Given the description of an element on the screen output the (x, y) to click on. 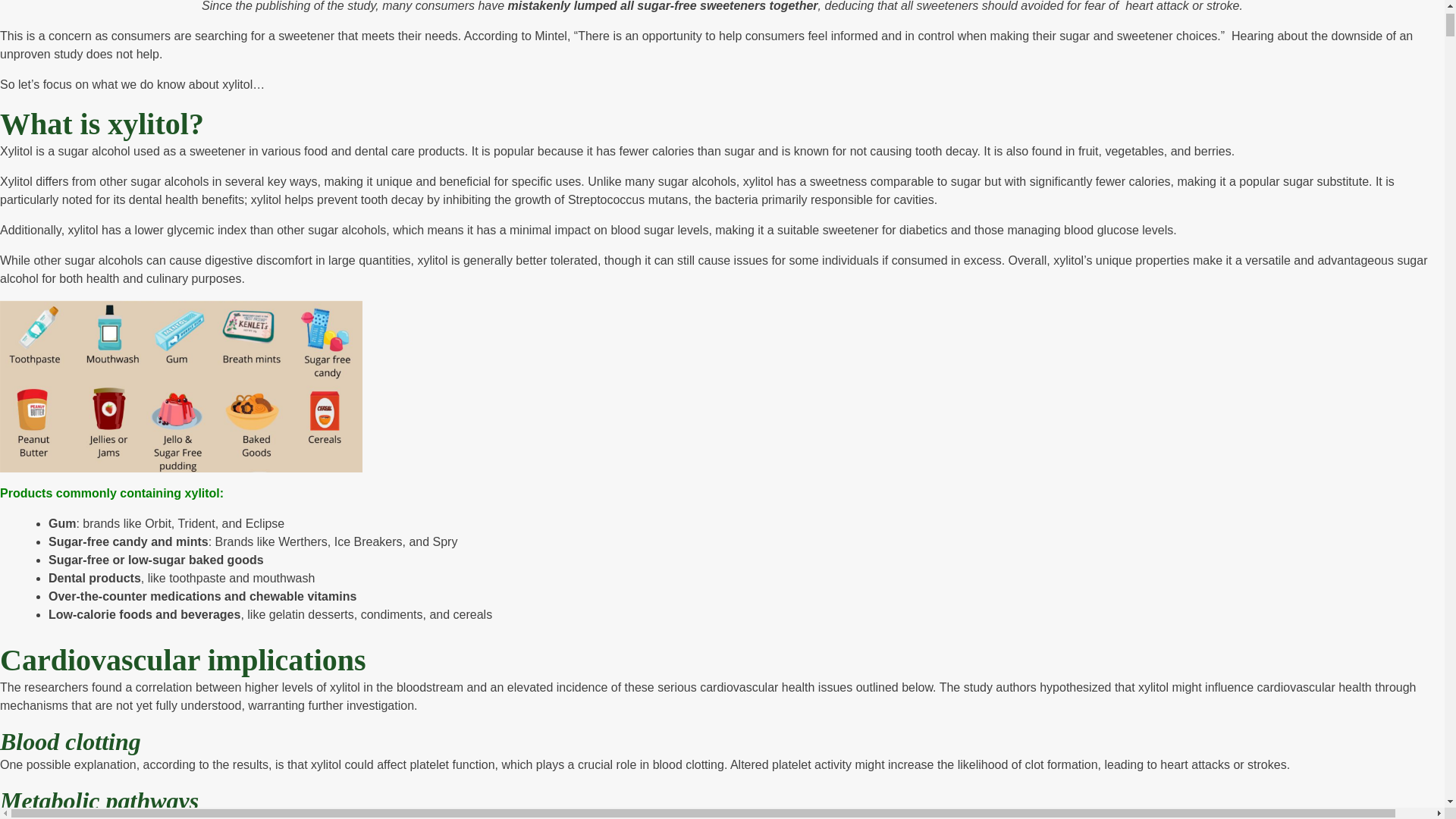
tooth decay (945, 151)
all sugar-free sweeteners (692, 6)
blood clotting (687, 764)
unique metabolic pathway (419, 818)
Xylitol (16, 151)
sugar and sweetener choices (1138, 35)
